Given the description of an element on the screen output the (x, y) to click on. 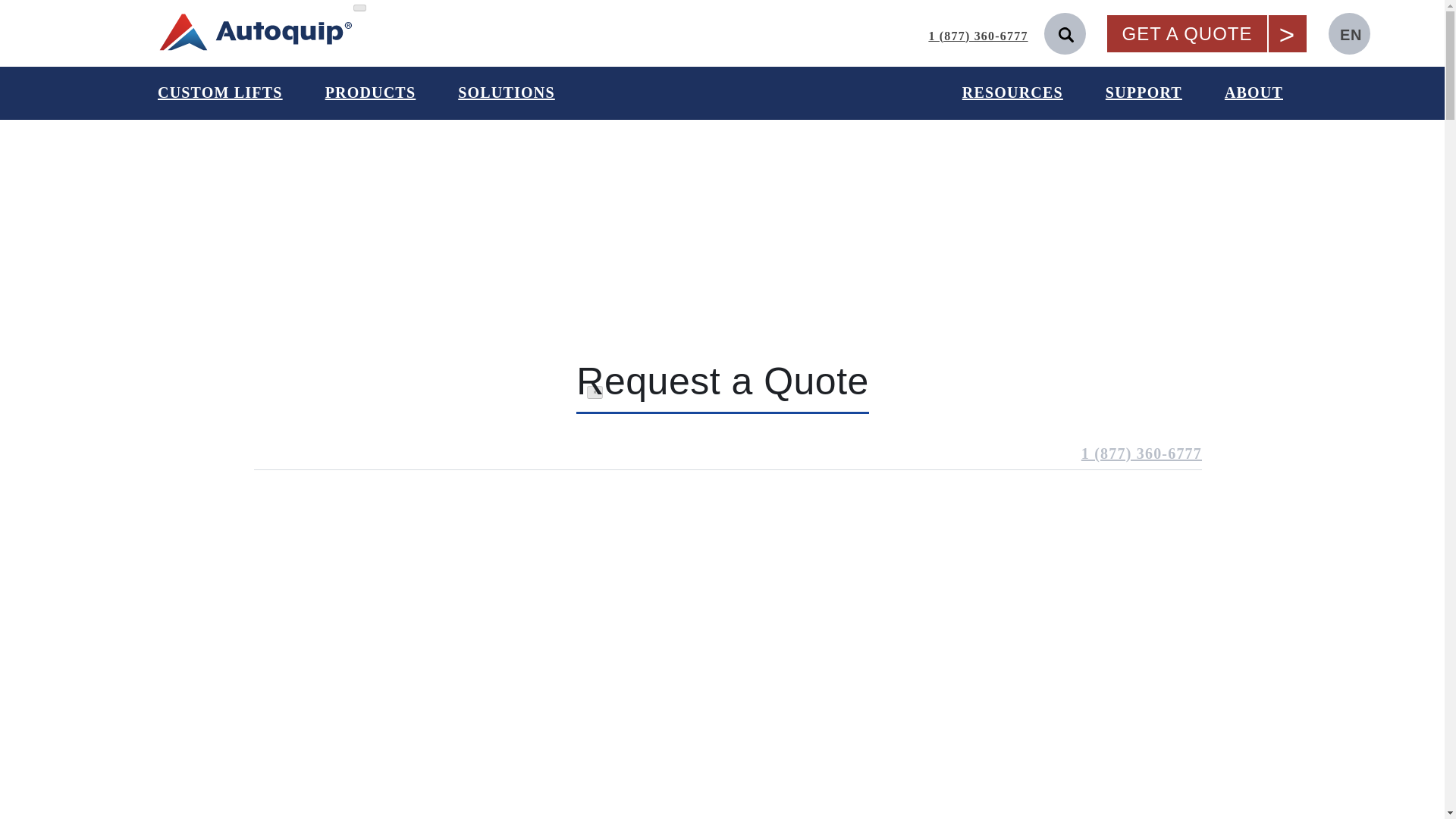
Toggle navigation (359, 8)
PRODUCTS (371, 92)
GET A QUOTE (1187, 33)
Search (1095, 33)
CUSTOM LIFTS (220, 92)
